Given the description of an element on the screen output the (x, y) to click on. 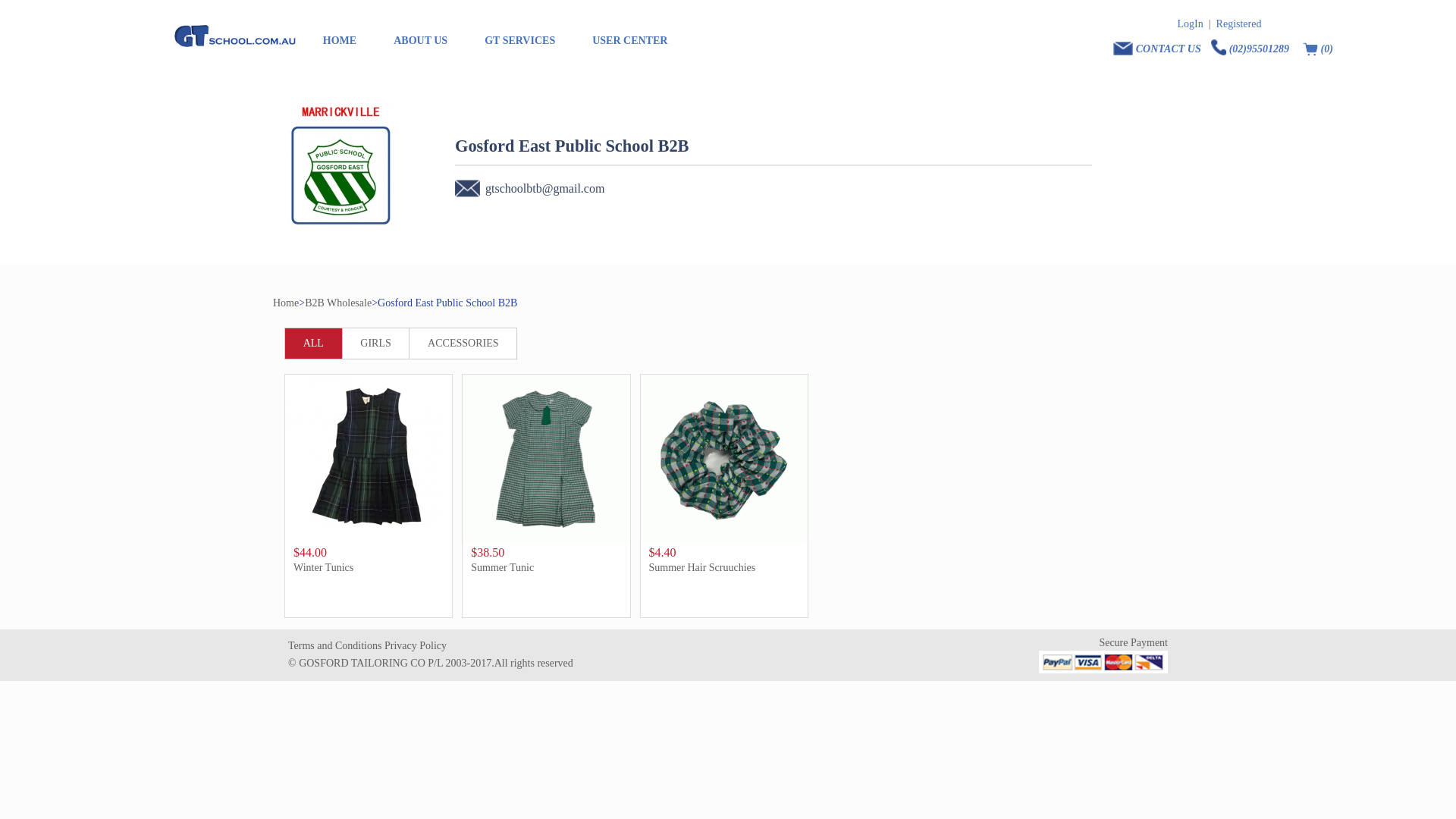
Registered Element type: text (1238, 23)
Home Element type: text (285, 302)
(02)95501289 Element type: text (1251, 45)
(0) Element type: text (1316, 45)
B2B Wholesale Element type: text (337, 302)
Terms and Conditions Privacy Policy Element type: text (430, 645)
CONTACT US Element type: text (1158, 45)
USER CENTER Element type: text (629, 40)
LogIn Element type: text (1190, 23)
HOME Element type: text (339, 40)
ABOUT US Element type: text (420, 40)
